Given the description of an element on the screen output the (x, y) to click on. 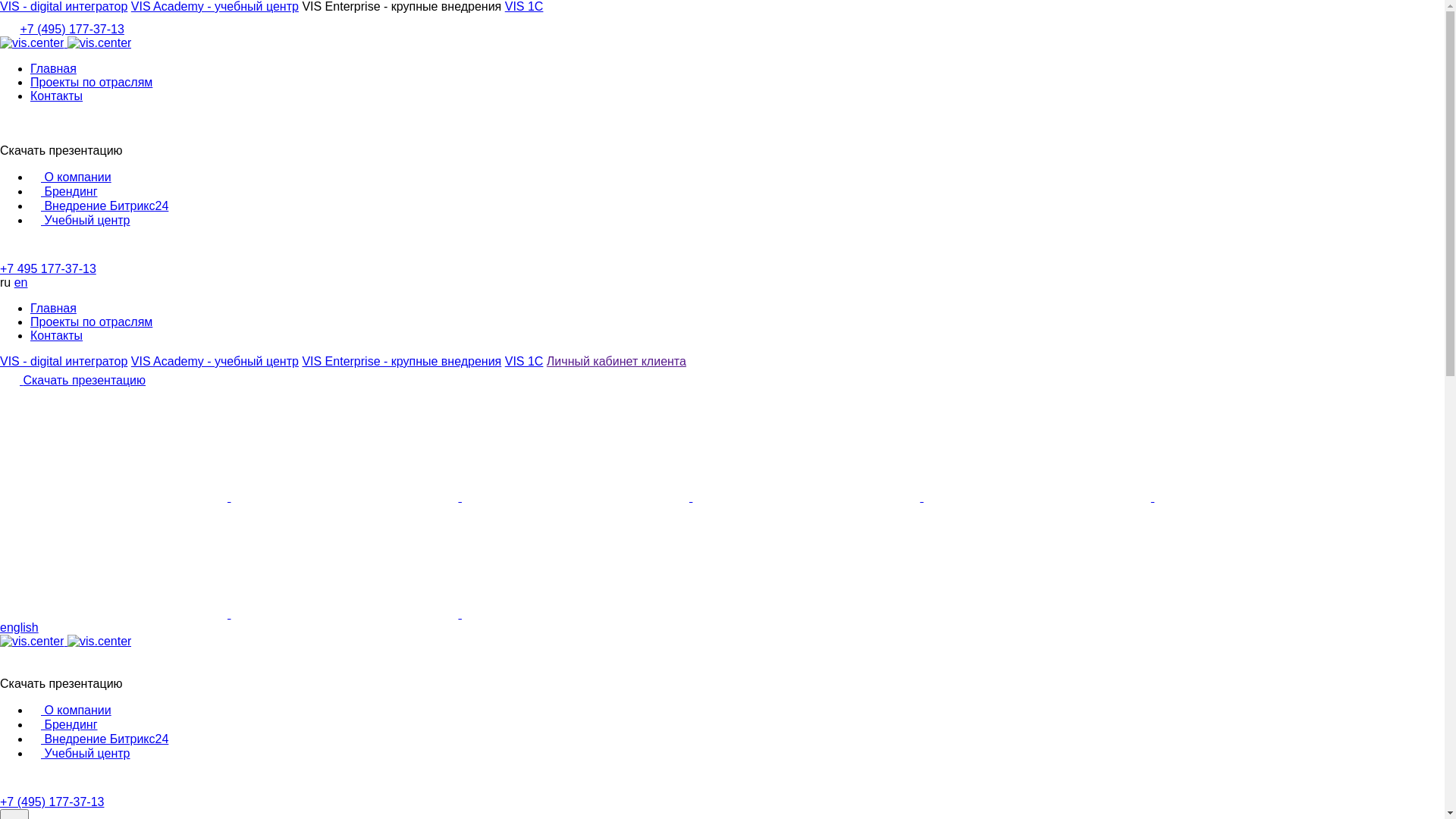
+7 (495) 177-37-13 Element type: text (71, 28)
+7 (495) 177-37-13 Element type: text (51, 801)
en Element type: text (21, 282)
+7 495 177-37-13 Element type: text (722, 262)
english Element type: text (19, 627)
